Given the description of an element on the screen output the (x, y) to click on. 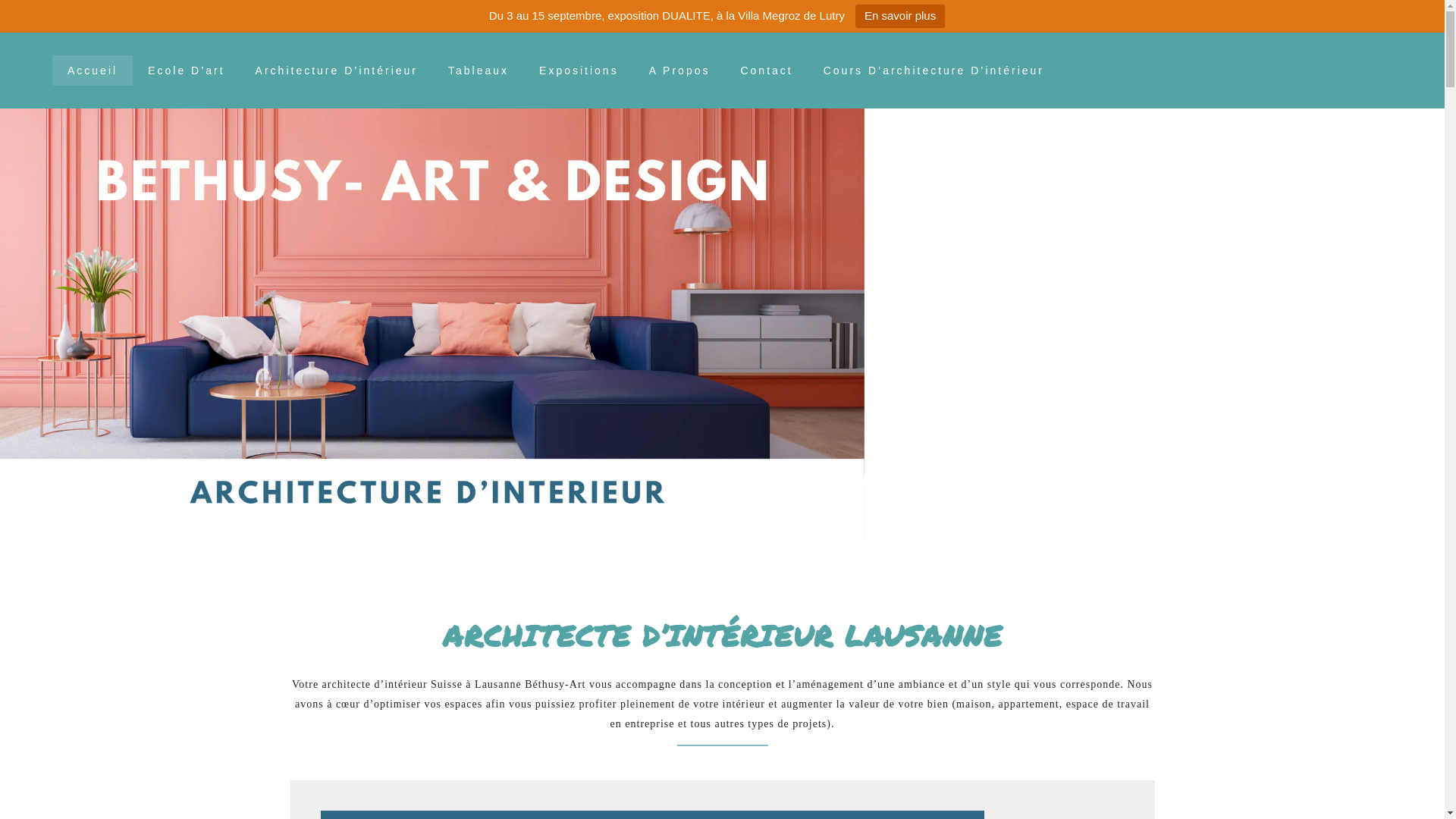
Accueil Element type: text (92, 70)
Expositions Element type: text (578, 70)
Tableaux Element type: text (478, 70)
Contact Element type: text (765, 70)
A Propos Element type: text (679, 70)
En savoir plus Element type: text (899, 16)
